Given the description of an element on the screen output the (x, y) to click on. 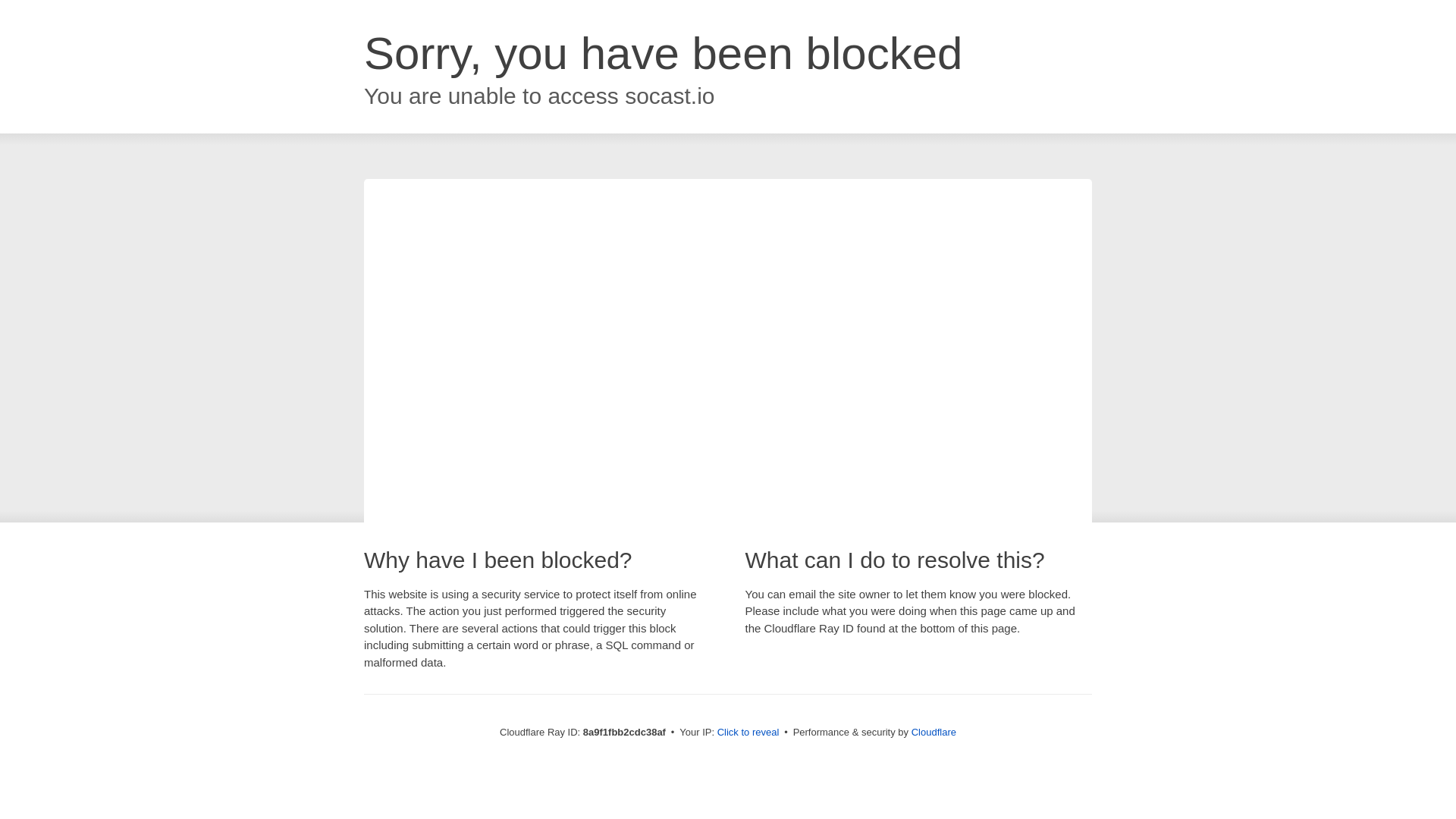
Cloudflare (933, 731)
Click to reveal (747, 732)
